Given the description of an element on the screen output the (x, y) to click on. 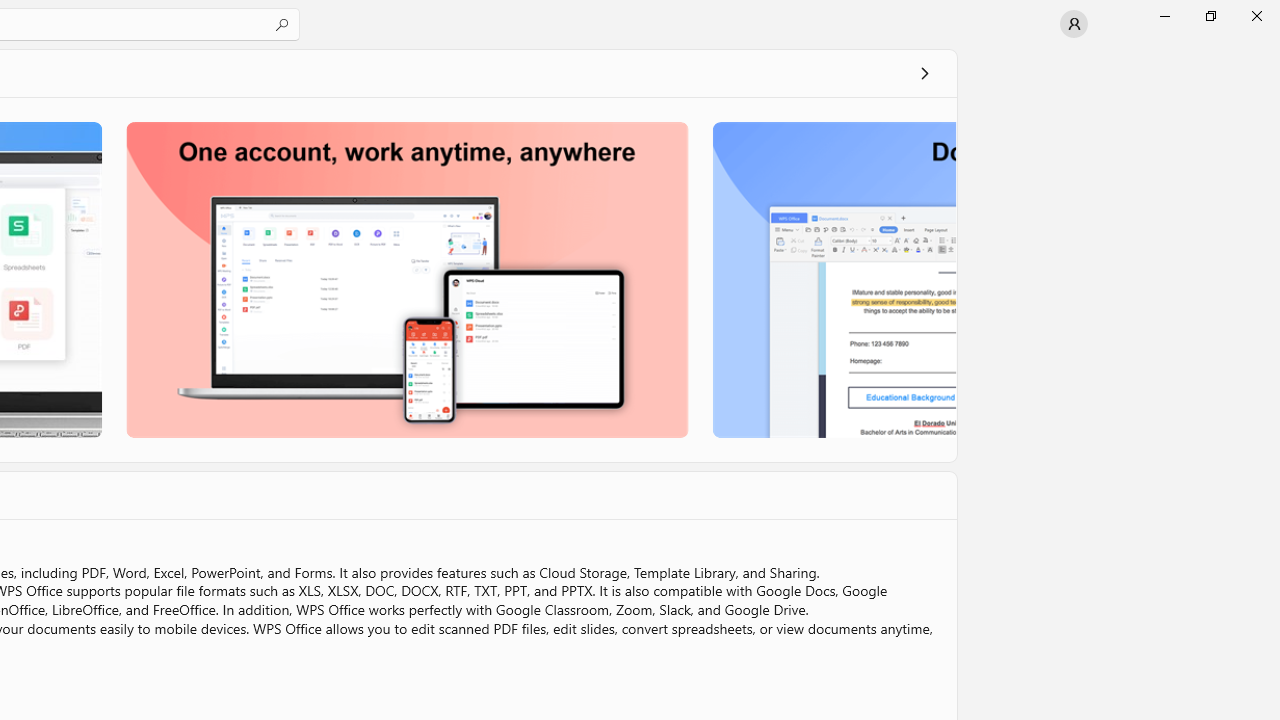
See all (924, 72)
User profile (1073, 24)
Screenshot 3 (832, 279)
Screenshot 2 (406, 279)
Minimize Microsoft Store (1164, 15)
Restore Microsoft Store (1210, 15)
Close Microsoft Store (1256, 15)
